Given the description of an element on the screen output the (x, y) to click on. 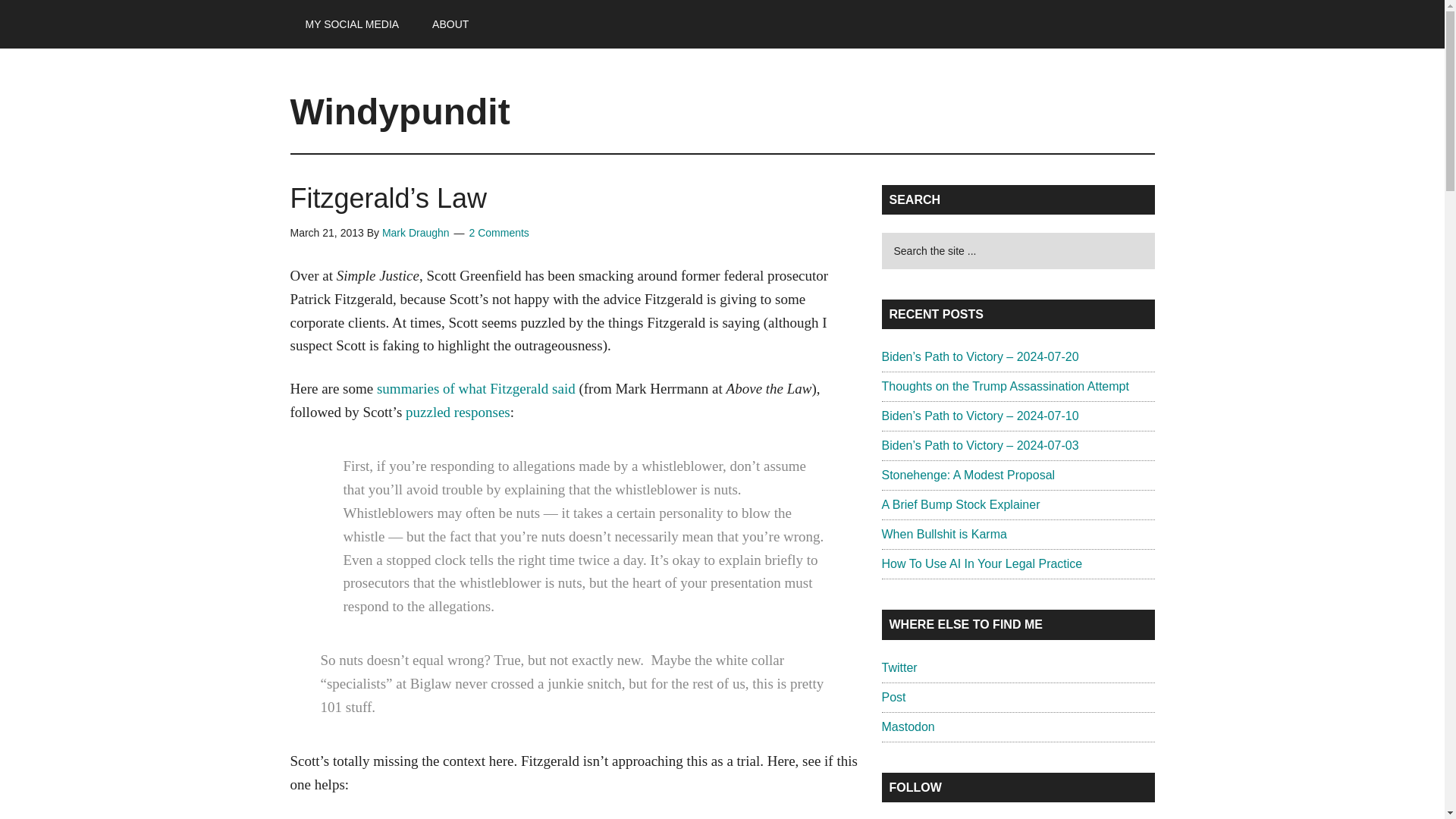
puzzled responses (458, 412)
Thoughts on the Trump Assassination Attempt (1004, 386)
ABOUT (449, 24)
MY SOCIAL MEDIA (351, 24)
Stonehenge: A Modest Proposal (967, 474)
Windypundit (399, 111)
2 Comments (498, 232)
summaries of what Fitzgerald said (476, 388)
